Given the description of an element on the screen output the (x, y) to click on. 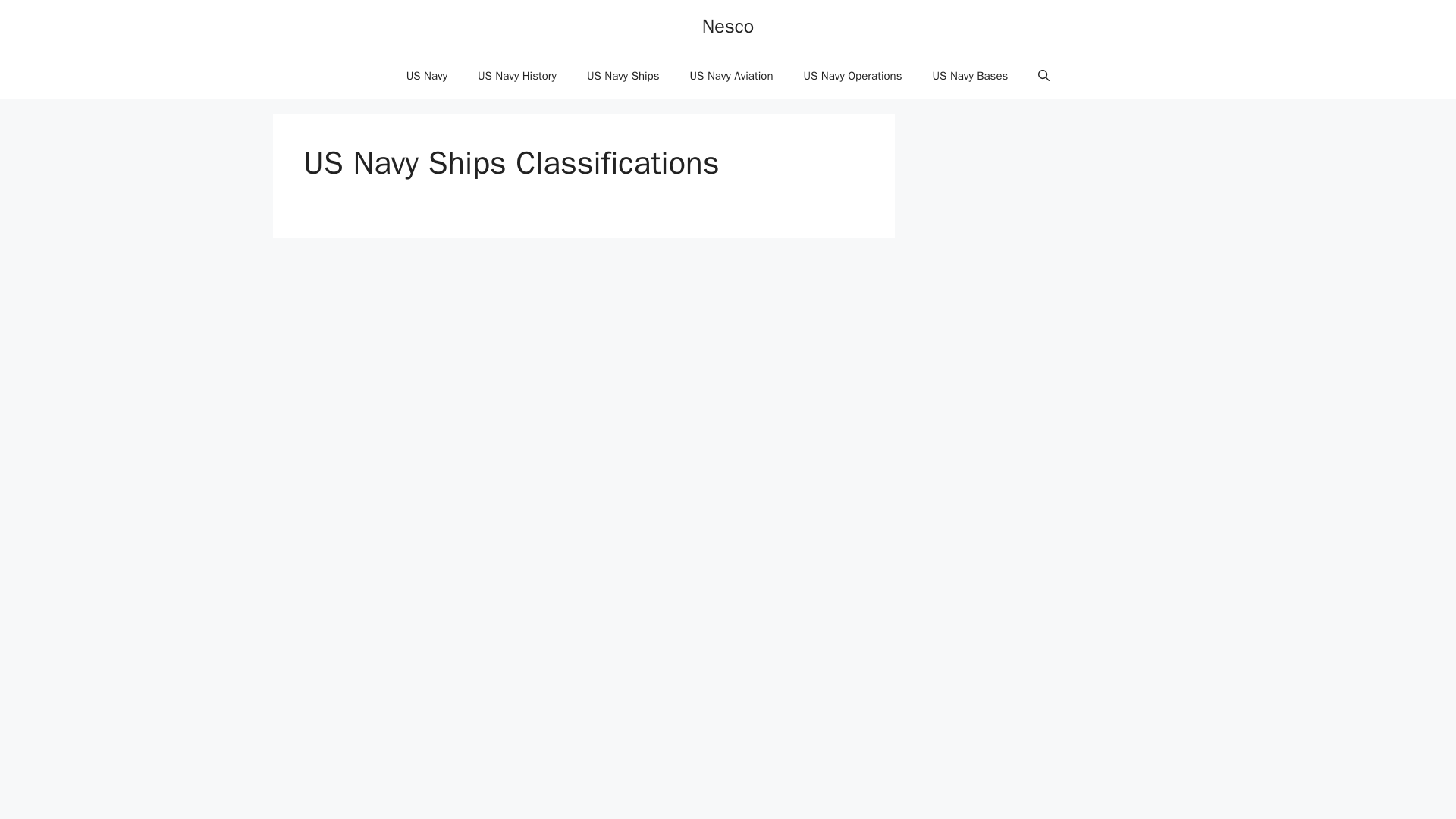
US Navy Bases (970, 75)
US Navy Aviation (732, 75)
US Navy Operations (852, 75)
Nesco (727, 25)
US Navy Ships (623, 75)
US Navy (427, 75)
US Navy History (517, 75)
